Given the description of an element on the screen output the (x, y) to click on. 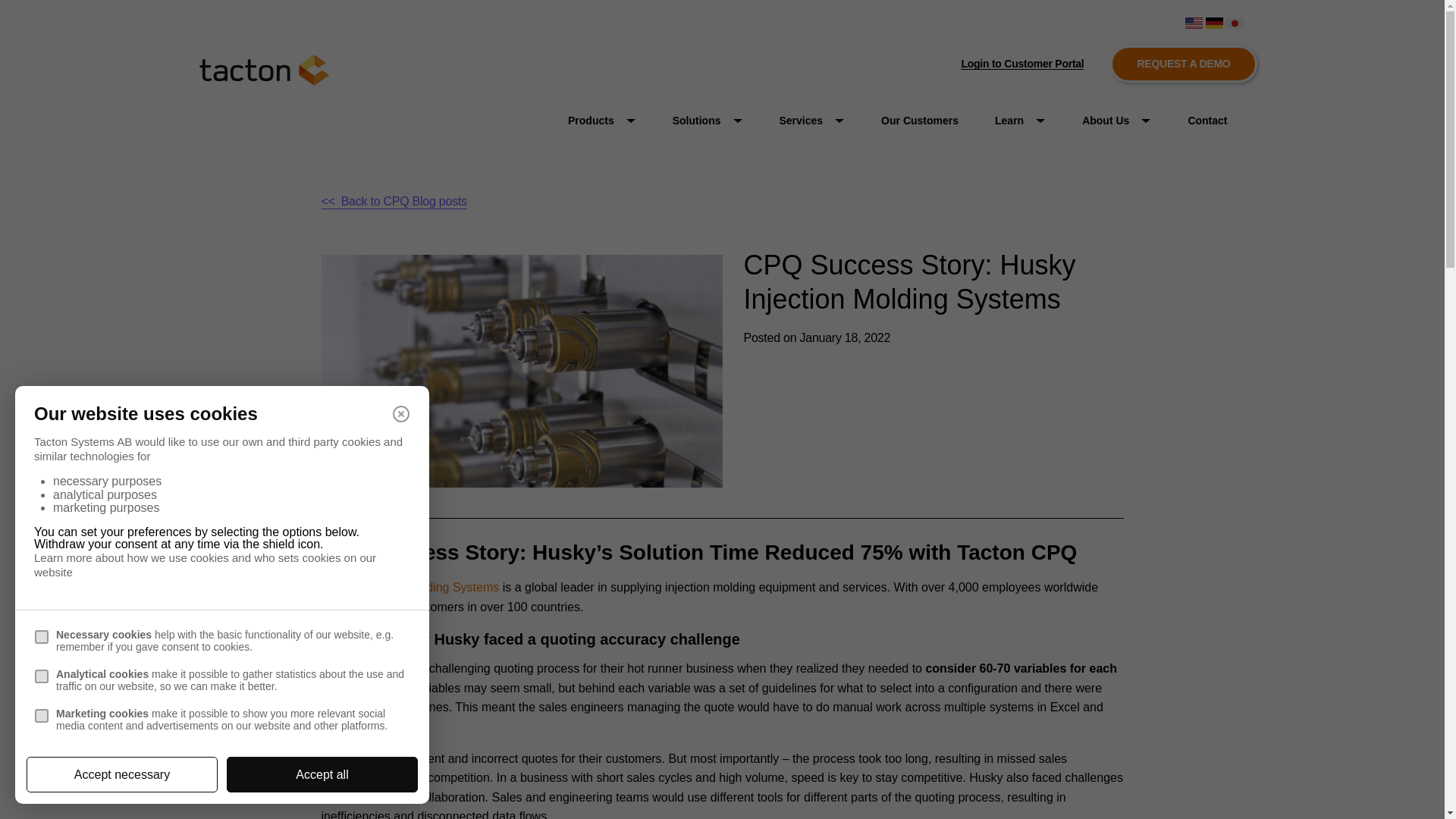
Services (812, 121)
REQUEST A DEMO (1182, 63)
Solutions (707, 121)
Login to Customer Portal (1022, 64)
Products (601, 121)
Our Customers (919, 121)
